Given the description of an element on the screen output the (x, y) to click on. 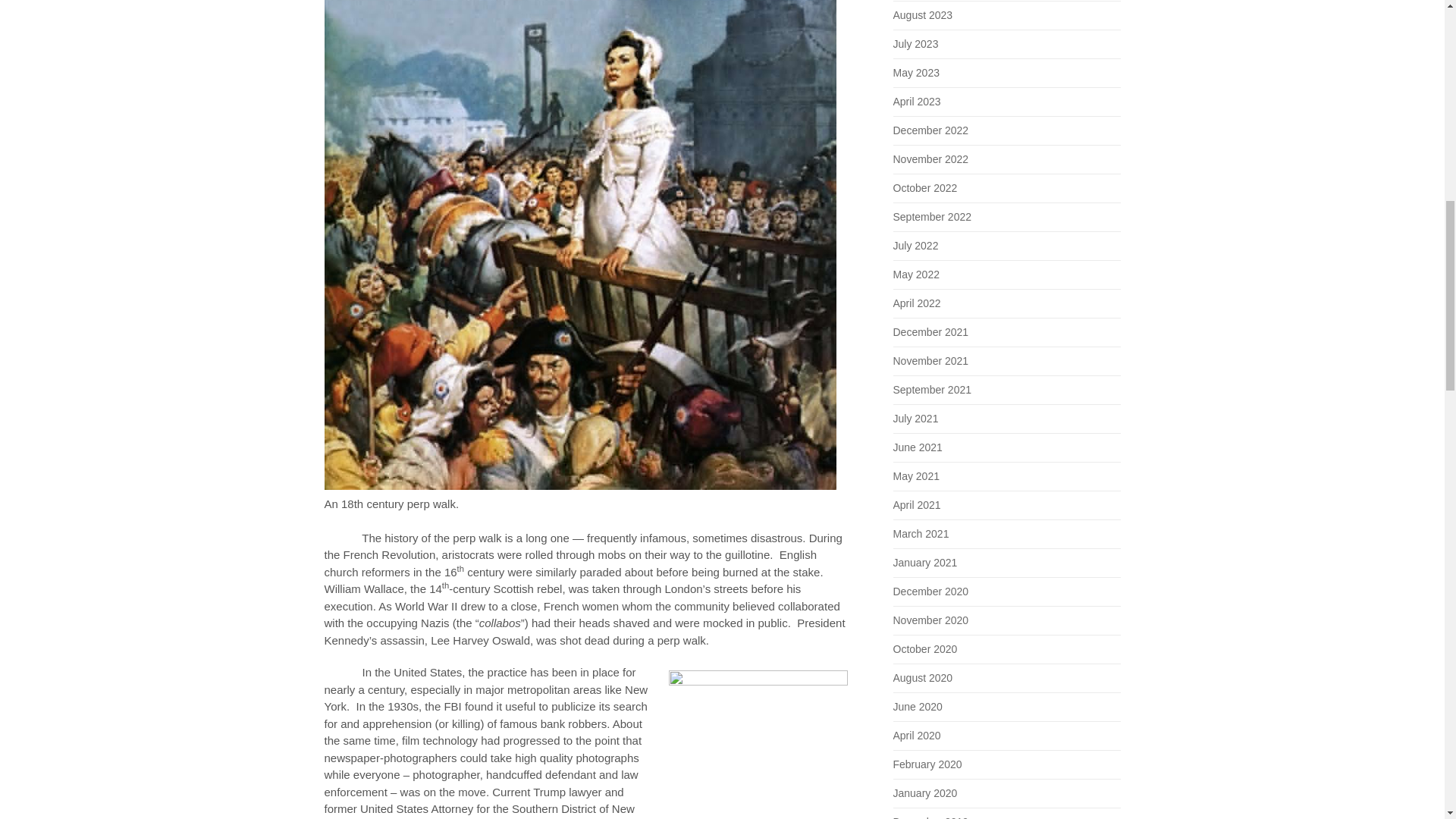
April 2023 (916, 101)
May 2022 (916, 274)
October 2022 (925, 187)
May 2023 (916, 72)
December 2022 (931, 130)
November 2022 (931, 159)
July 2022 (916, 245)
July 2023 (916, 43)
August 2023 (923, 15)
September 2022 (932, 216)
